Given the description of an element on the screen output the (x, y) to click on. 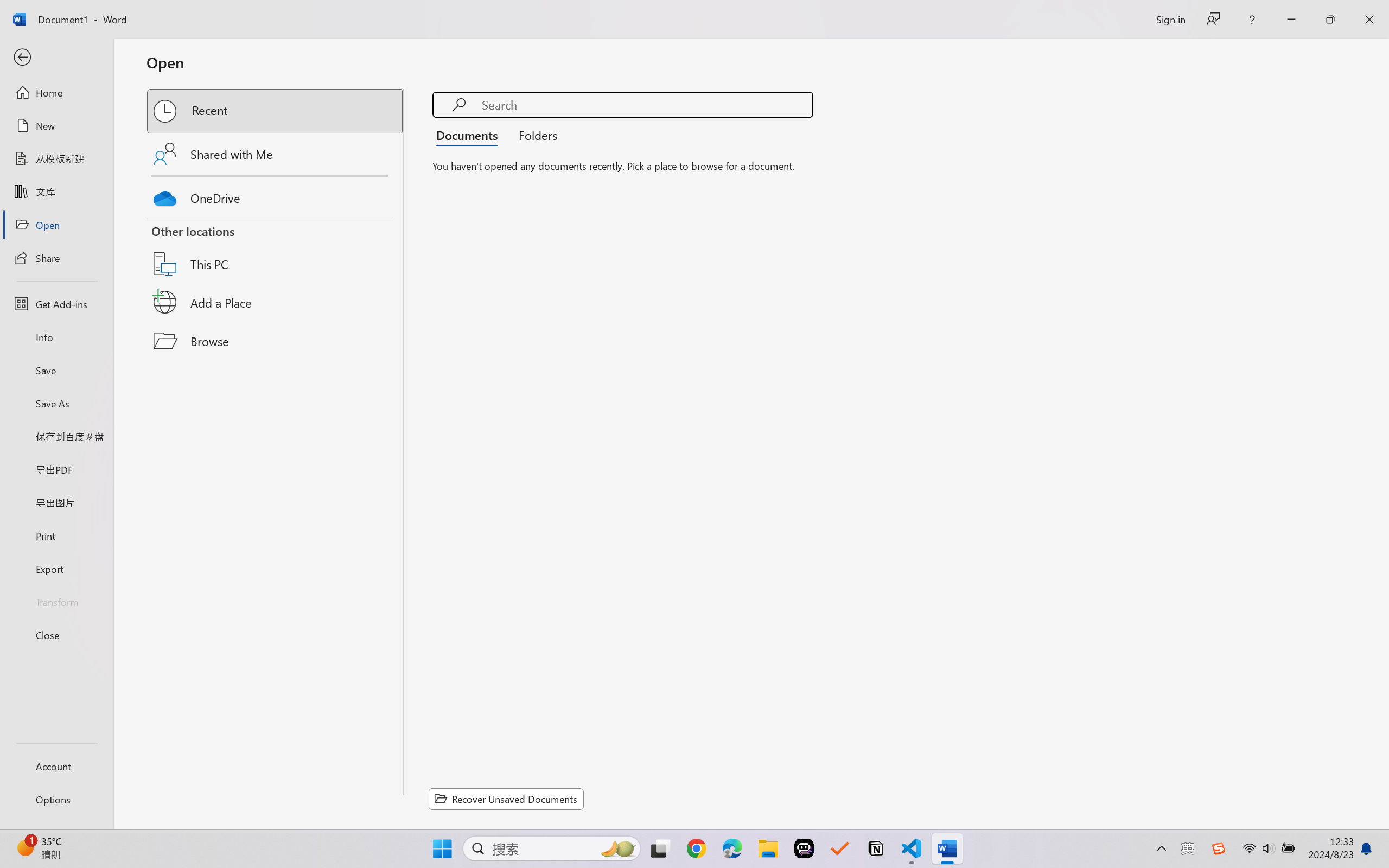
Back (56, 57)
Print (56, 535)
Info (56, 337)
Browse (275, 340)
Recover Unsaved Documents (506, 798)
Account (56, 765)
